Given the description of an element on the screen output the (x, y) to click on. 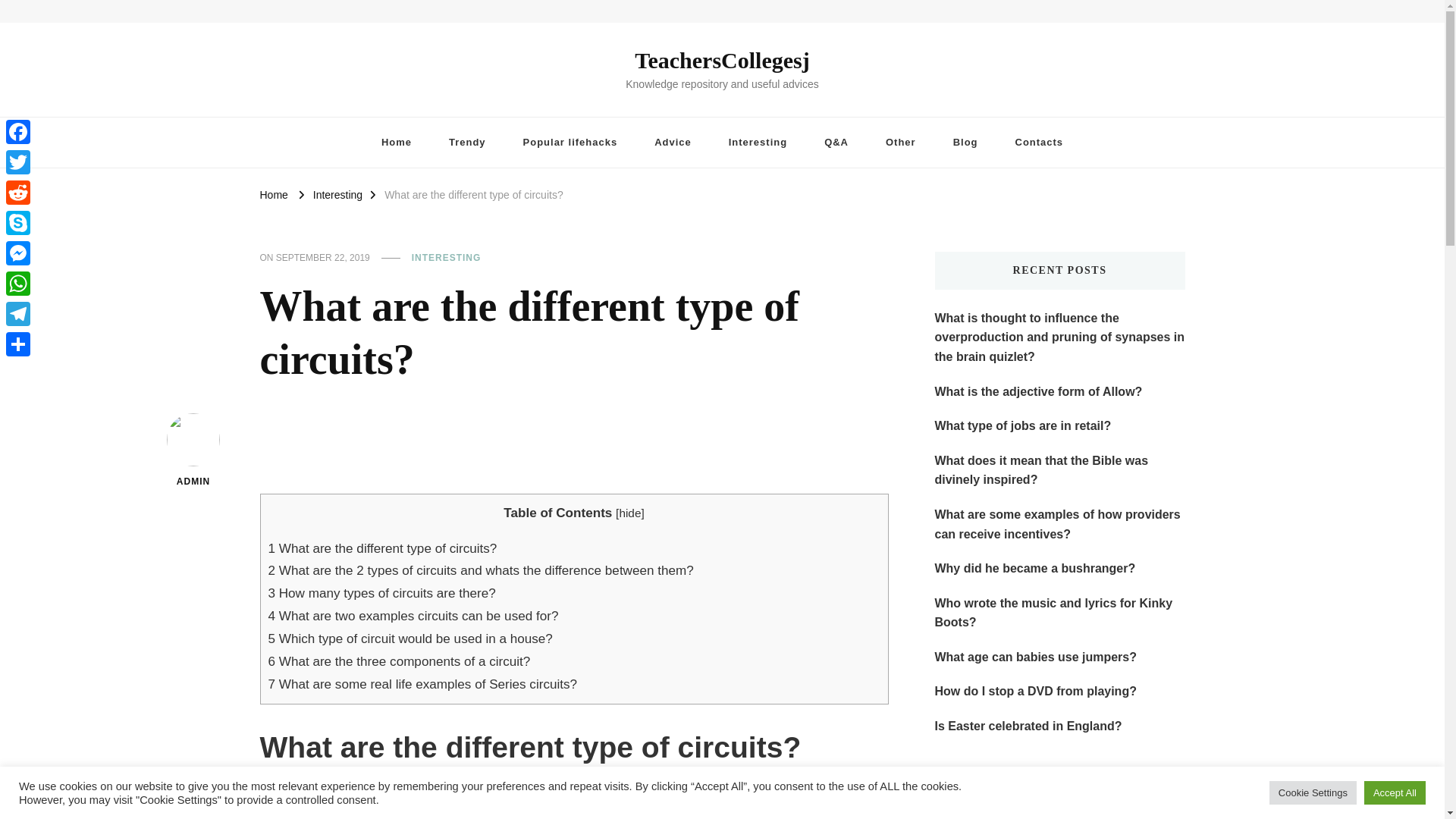
SEPTEMBER 22, 2019 (322, 258)
hide (629, 512)
Messenger (17, 253)
Blog (965, 142)
3 How many types of circuits are there? (381, 593)
Twitter (17, 162)
INTERESTING (446, 258)
Other (901, 142)
6 What are the three components of a circuit? (399, 661)
What is the adjective form of Allow? (1037, 392)
